Given the description of an element on the screen output the (x, y) to click on. 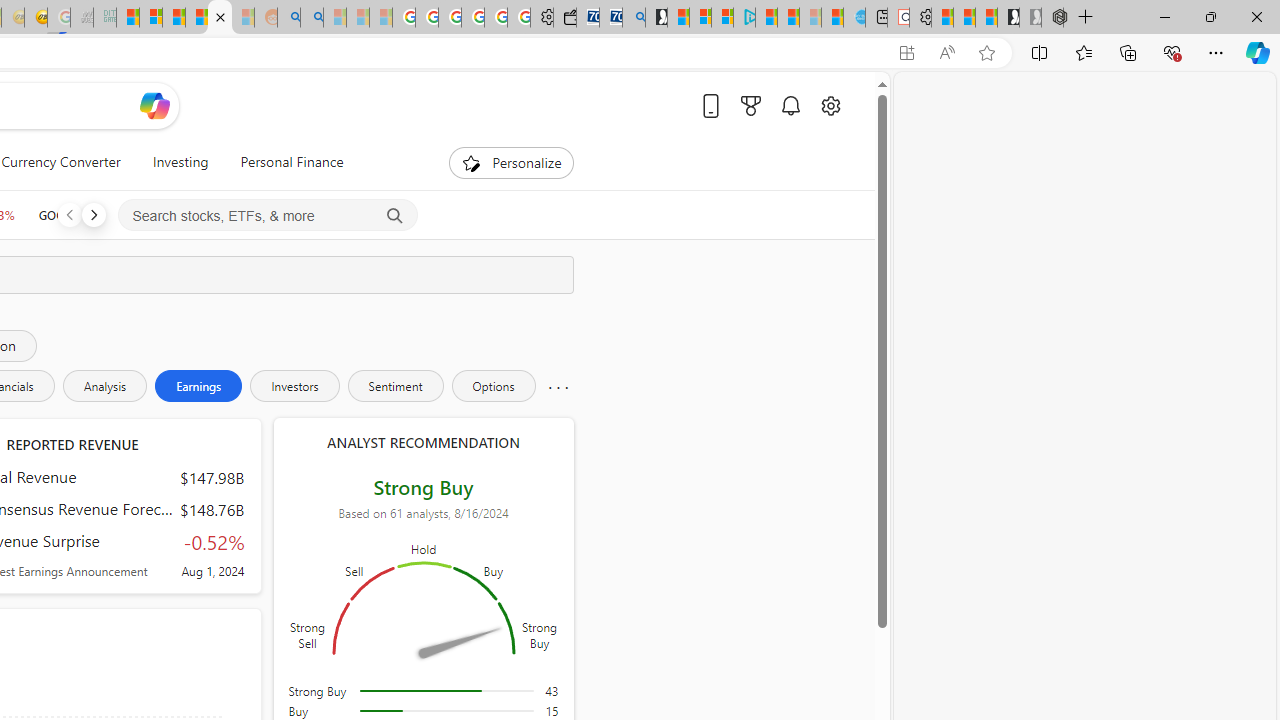
Microsoft Start Gaming (656, 17)
Nordace - Nordace Siena Is Not An Ordinary Backpack (1052, 17)
Investing (180, 162)
Utah sues federal government - Search (311, 17)
Open settings (830, 105)
MSNBC - MSN (127, 17)
Next (93, 214)
